Given the description of an element on the screen output the (x, y) to click on. 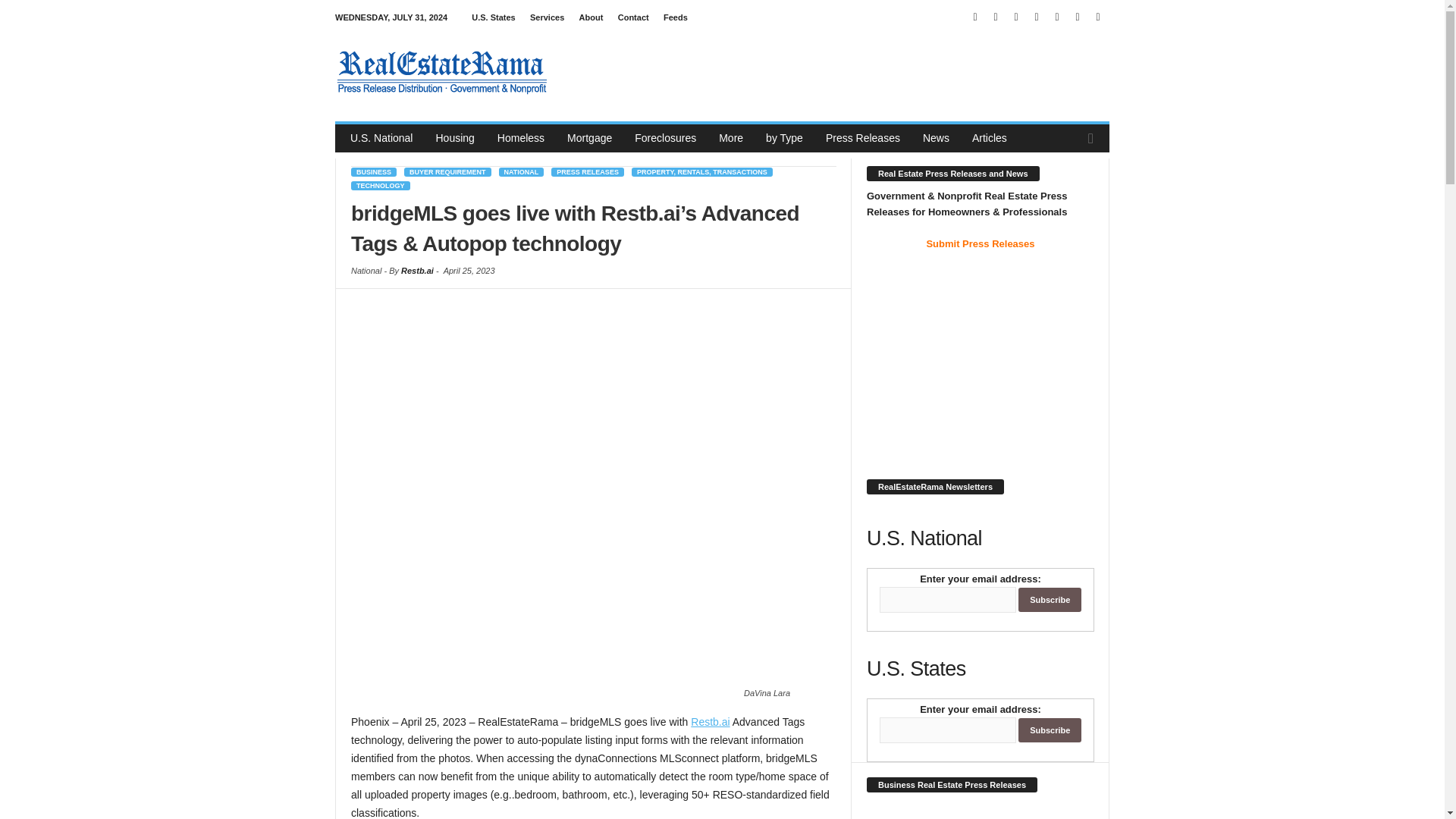
Subscribe (1049, 730)
Youtube (1097, 17)
Twitter (1077, 17)
Pinterest (1036, 17)
Linkedin (995, 17)
RSS (1056, 17)
Mail (1016, 17)
Subscribe (1049, 599)
Facebook (975, 17)
